Given the description of an element on the screen output the (x, y) to click on. 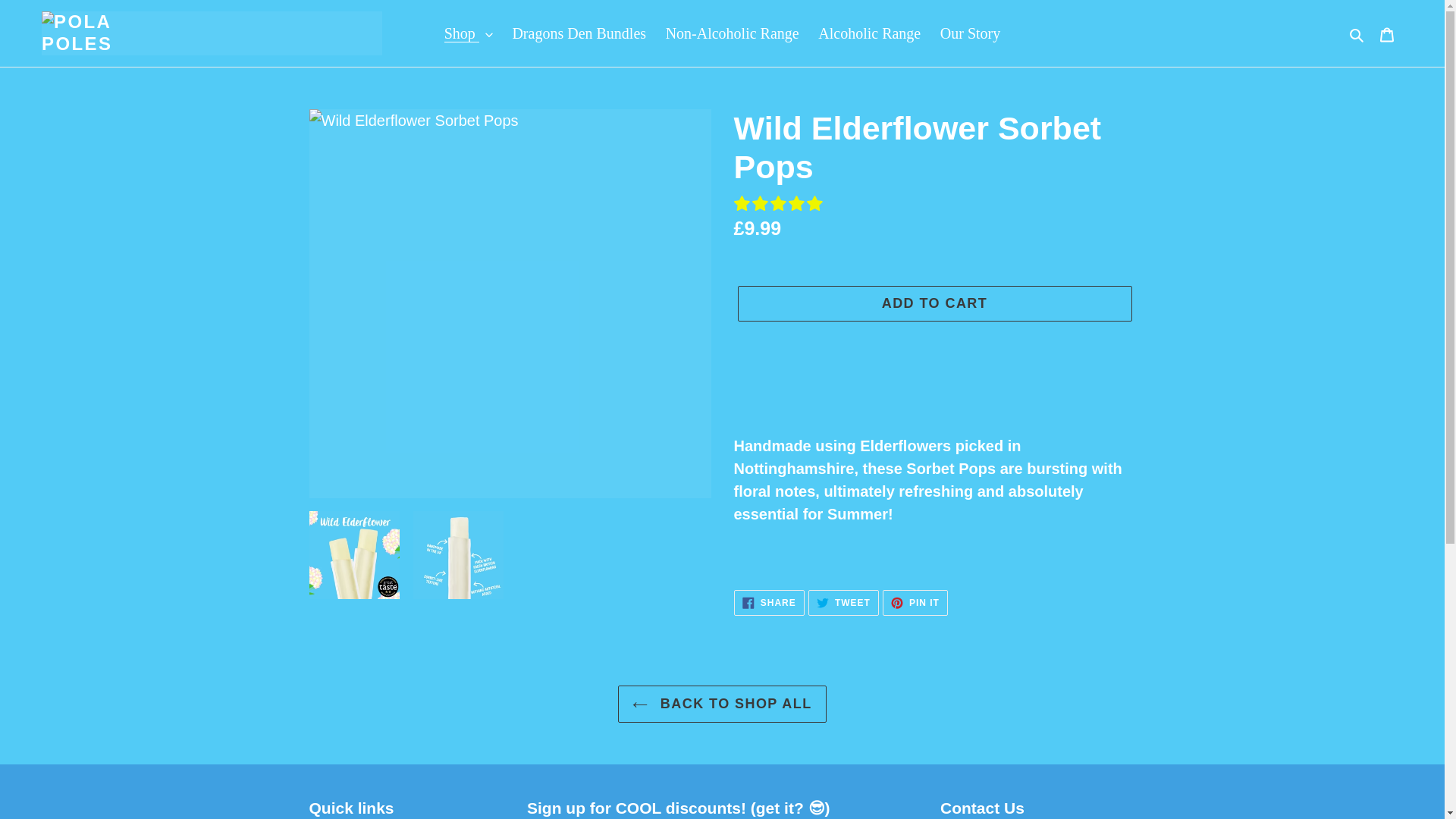
Shop (468, 32)
Search (1357, 33)
Our Story (970, 32)
Non-Alcoholic Range (732, 32)
ADD TO CART (933, 303)
Alcoholic Range (843, 602)
Dragons Den Bundles (869, 32)
